Given the description of an element on the screen output the (x, y) to click on. 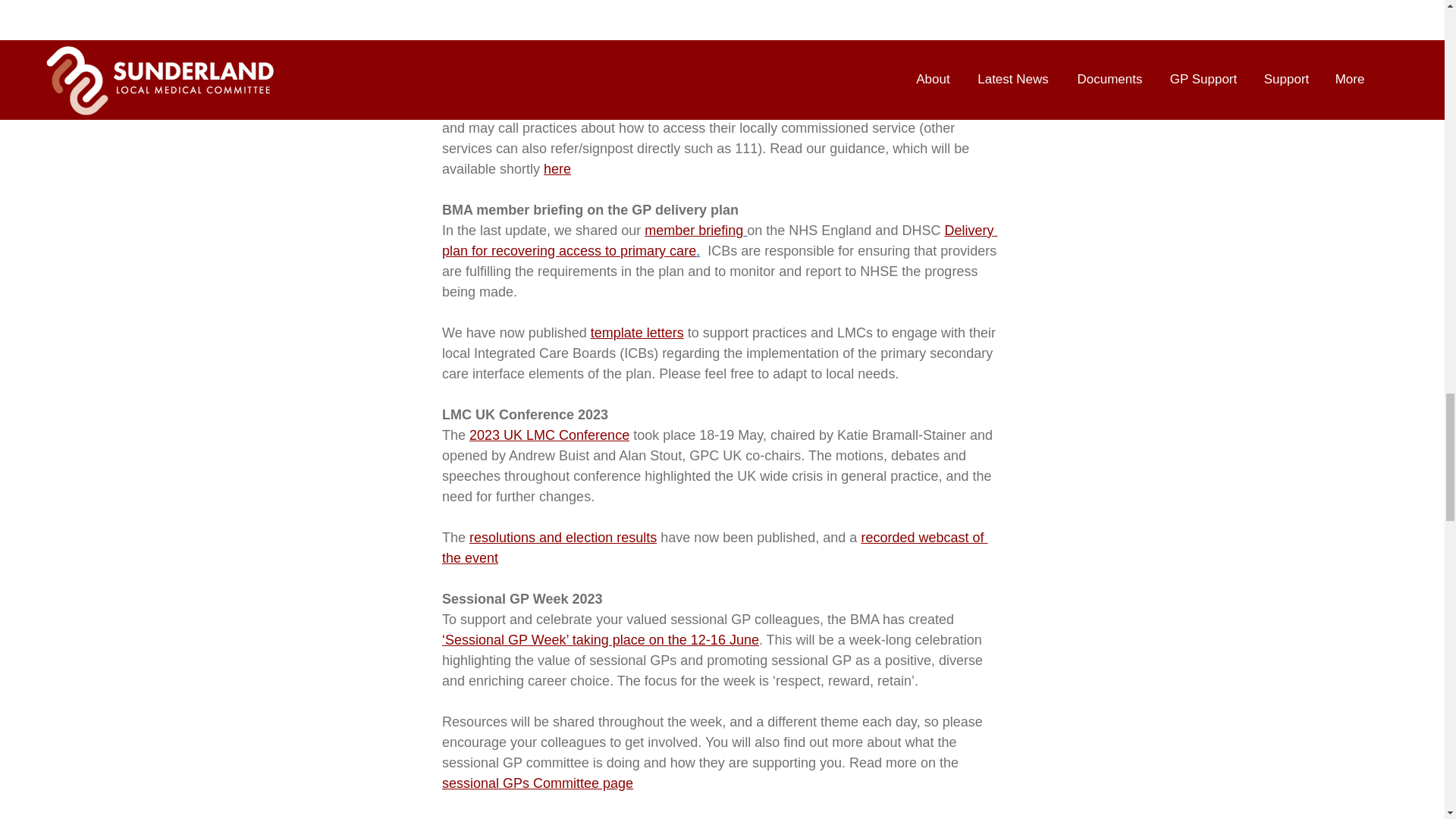
recorded webcast of the event (714, 547)
member briefing (693, 230)
2023 UK LMC Conference (548, 435)
resolutions and election results (562, 537)
template letters (635, 332)
Delivery plan for recovering access to primary care (718, 240)
sessional GPs Committee page (536, 783)
here (556, 168)
